Given the description of an element on the screen output the (x, y) to click on. 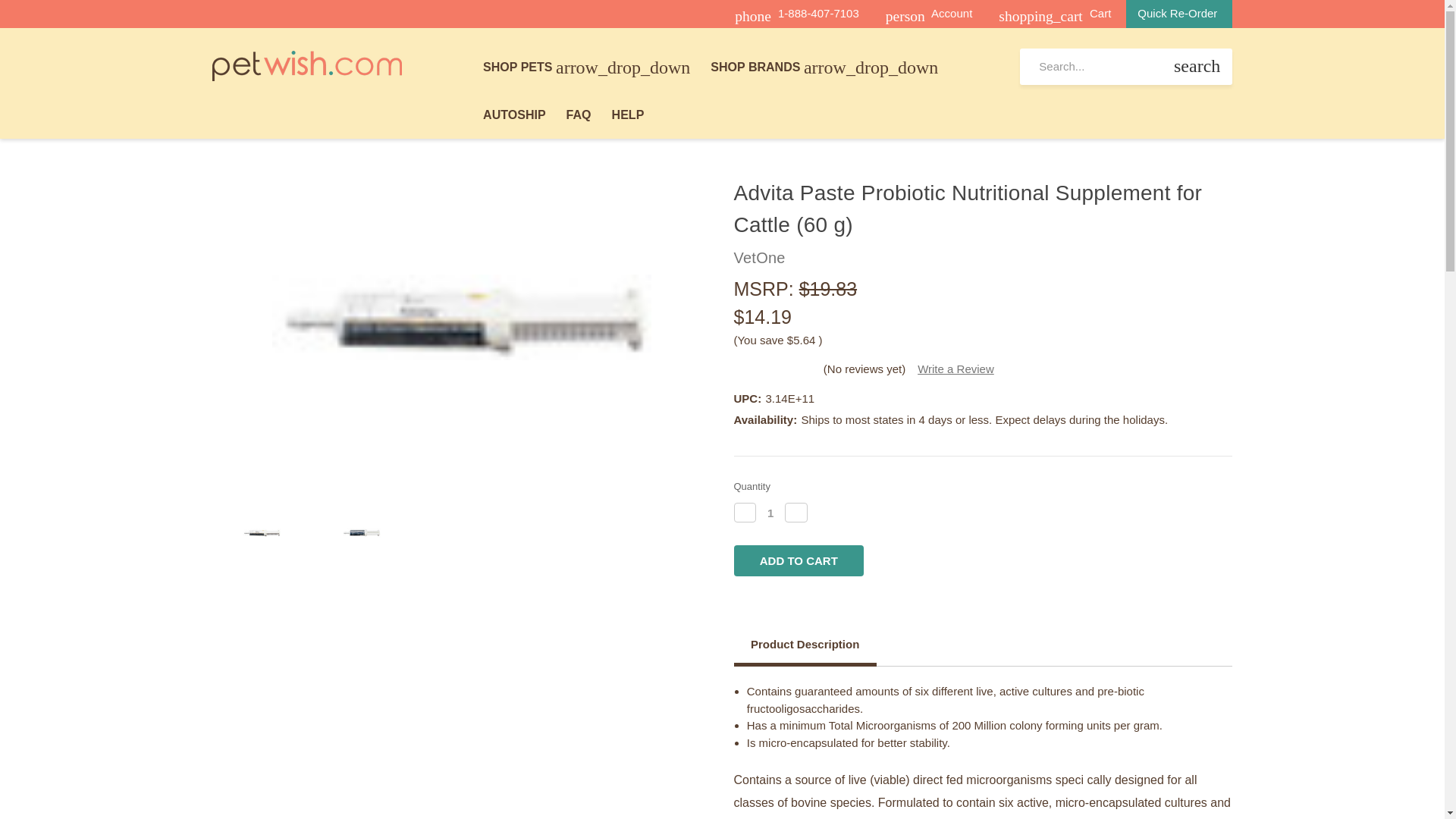
AUTOSHIP (514, 114)
HELP (627, 114)
Home (226, 123)
FAQ (578, 114)
1 (769, 512)
person Account (928, 13)
search (1196, 66)
Quick Re-Order (1176, 13)
Horses (272, 123)
Pet Wish Pros (306, 64)
Add to Cart (798, 560)
Write a Review (955, 368)
phone 1-888-407-7103 (796, 13)
VetOne (759, 257)
